Given the description of an element on the screen output the (x, y) to click on. 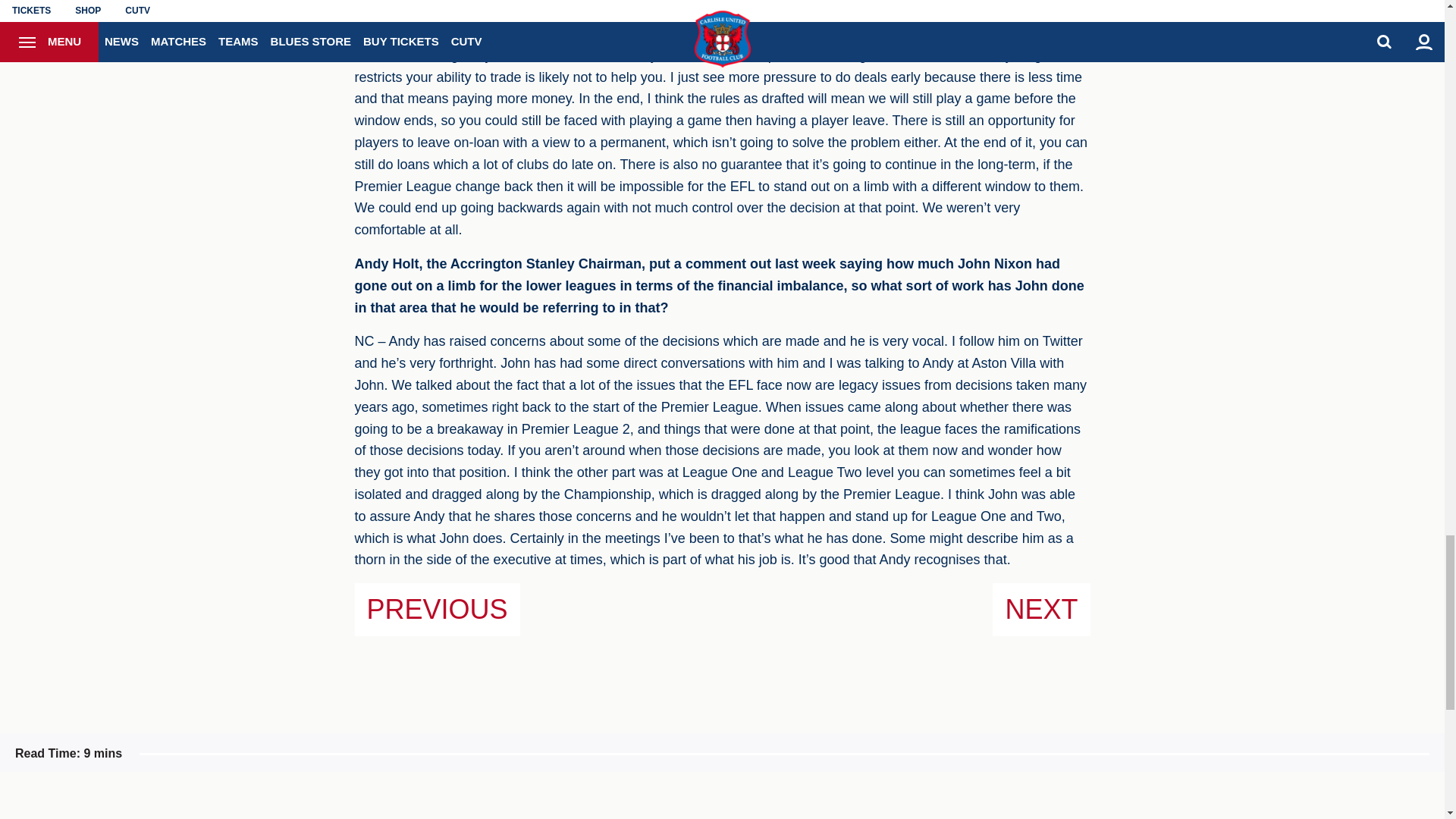
3rd party ad content (973, 807)
3rd party ad content (469, 807)
3rd party ad content (721, 807)
